Given the description of an element on the screen output the (x, y) to click on. 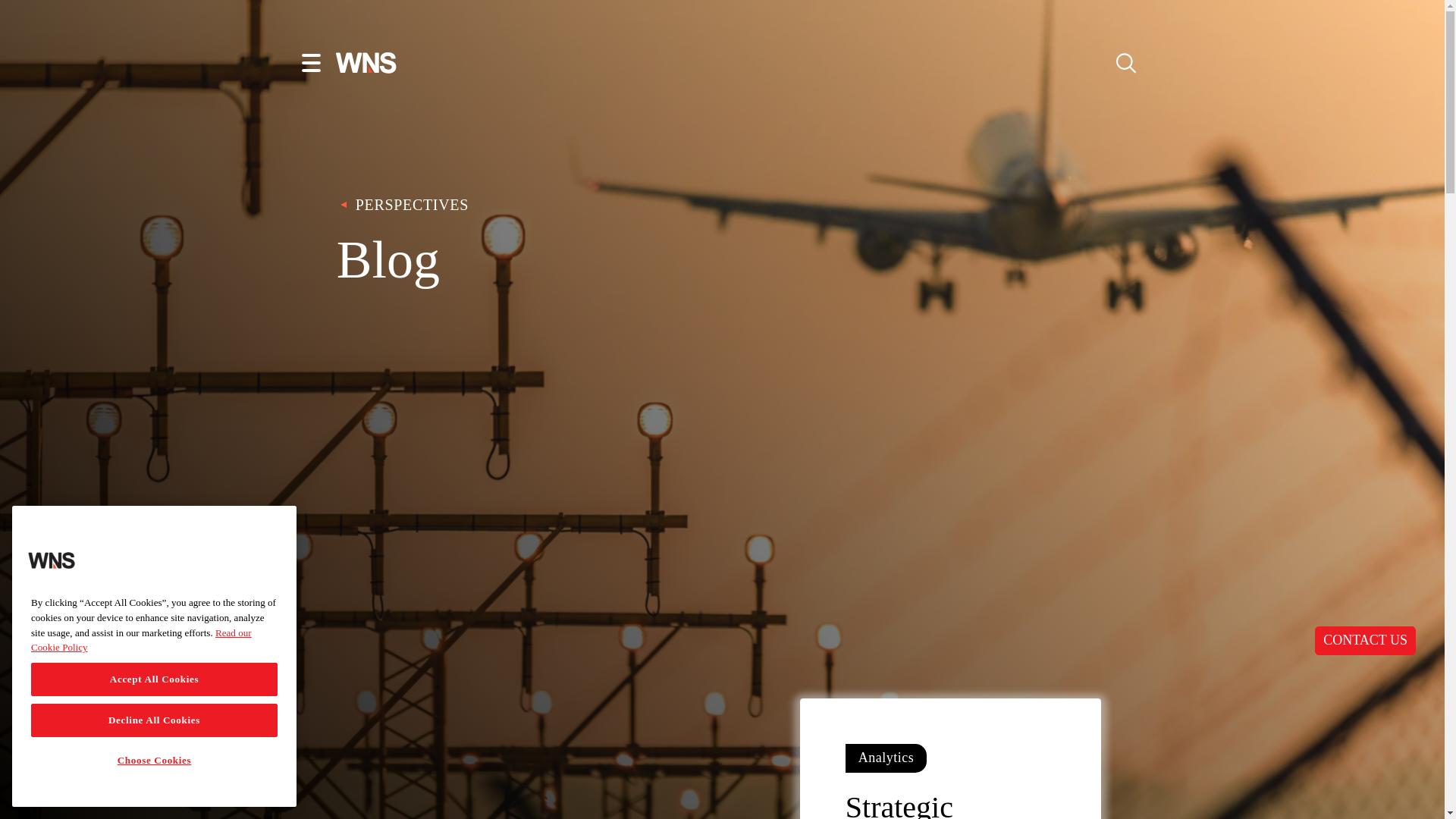
WNS (51, 560)
search (1125, 62)
